Given the description of an element on the screen output the (x, y) to click on. 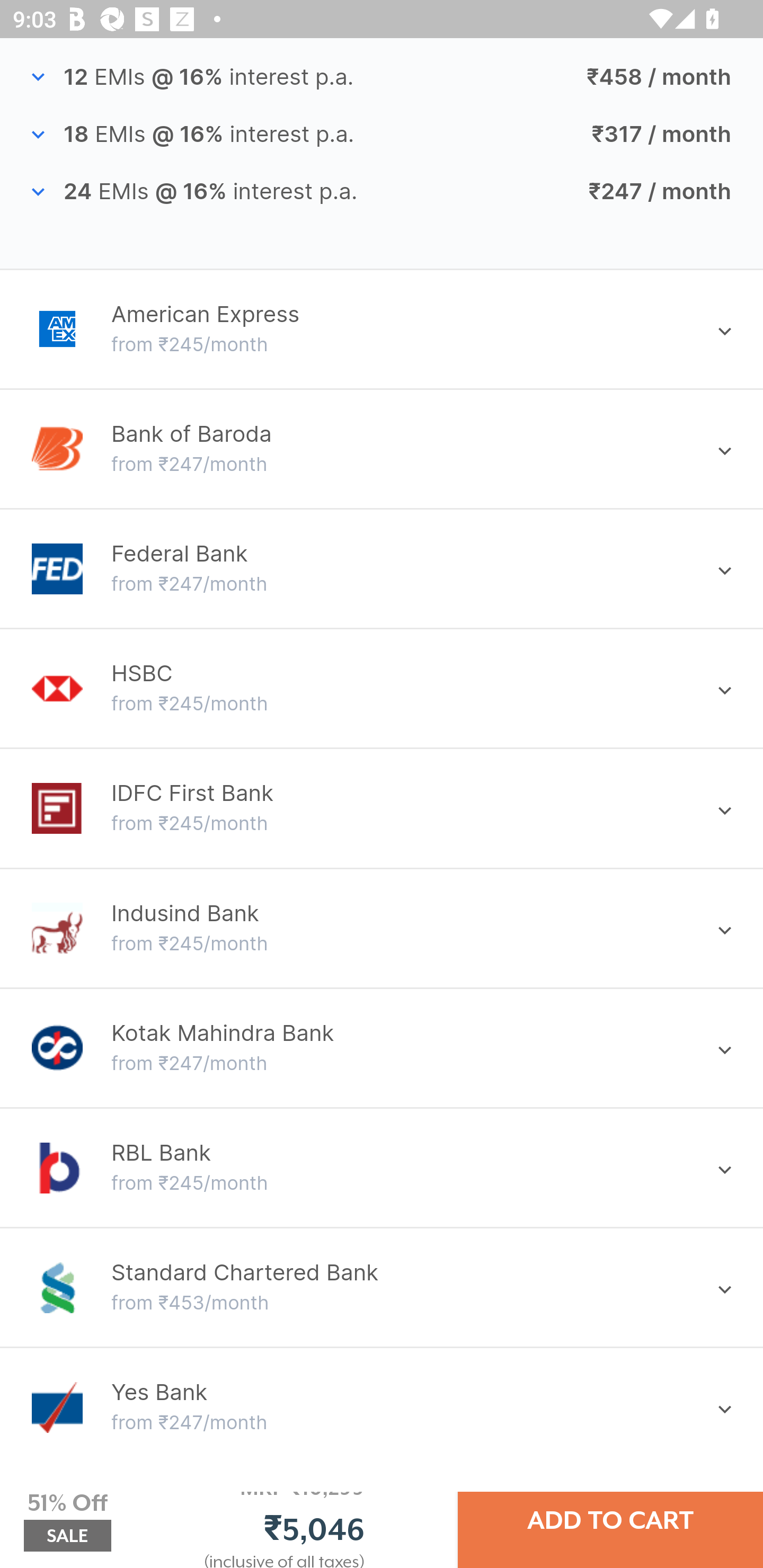
12 EMIs @ 16% interest p.a. ₹458 / month (381, 77)
18 EMIs @ 16% interest p.a. ₹317 / month (381, 133)
24 EMIs @ 16% interest p.a. ₹247 / month (381, 191)
American Express American Express from ₹245/month (381, 329)
Bank of Baroda Bank of Baroda from ₹247/month (381, 448)
Federal Bank Federal Bank from ₹247/month (381, 568)
HSBC HSBC from ₹245/month (381, 688)
IDFC First Bank IDFC First Bank from ₹245/month (381, 807)
Indusind Bank Indusind Bank from ₹245/month (381, 928)
RBL Bank RBL Bank from ₹245/month (381, 1167)
Yes Bank Yes Bank from ₹247/month (381, 1406)
ADD TO CART (610, 1520)
